Given the description of an element on the screen output the (x, y) to click on. 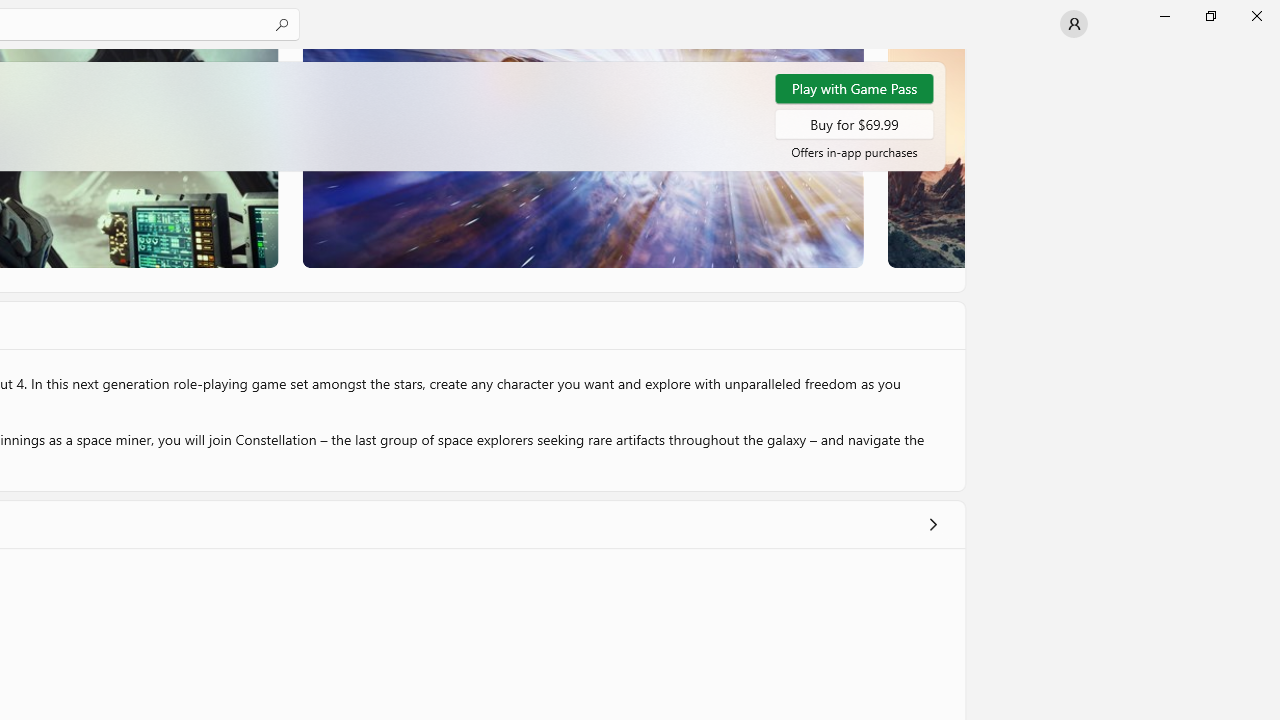
Show all ratings and reviews (932, 524)
Screenshot 4 (925, 157)
Screenshot 3 (582, 157)
Play with Game Pass (854, 87)
Buy (854, 123)
